Given the description of an element on the screen output the (x, y) to click on. 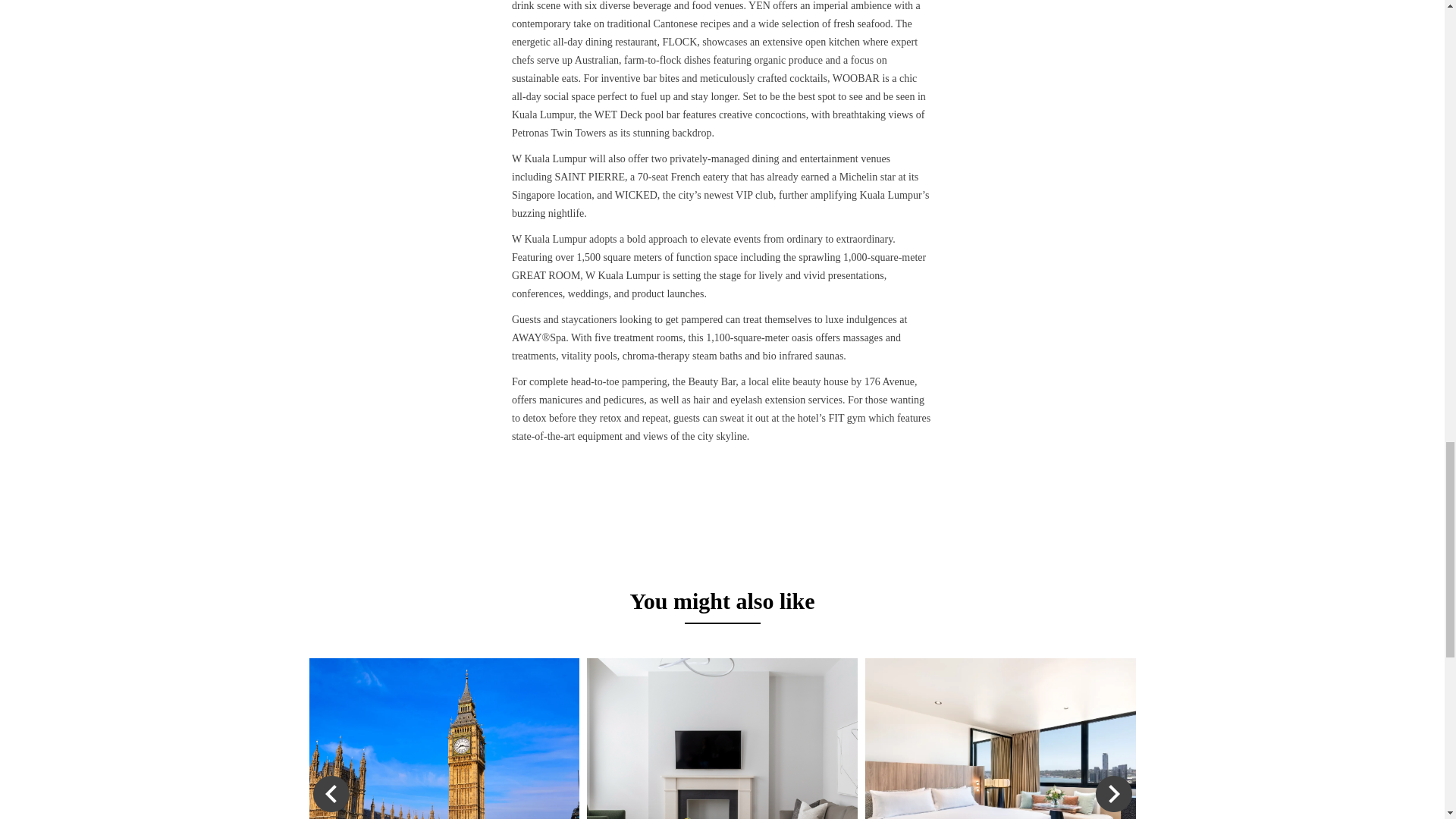
3rd party ad content (721, 518)
